Given the description of an element on the screen output the (x, y) to click on. 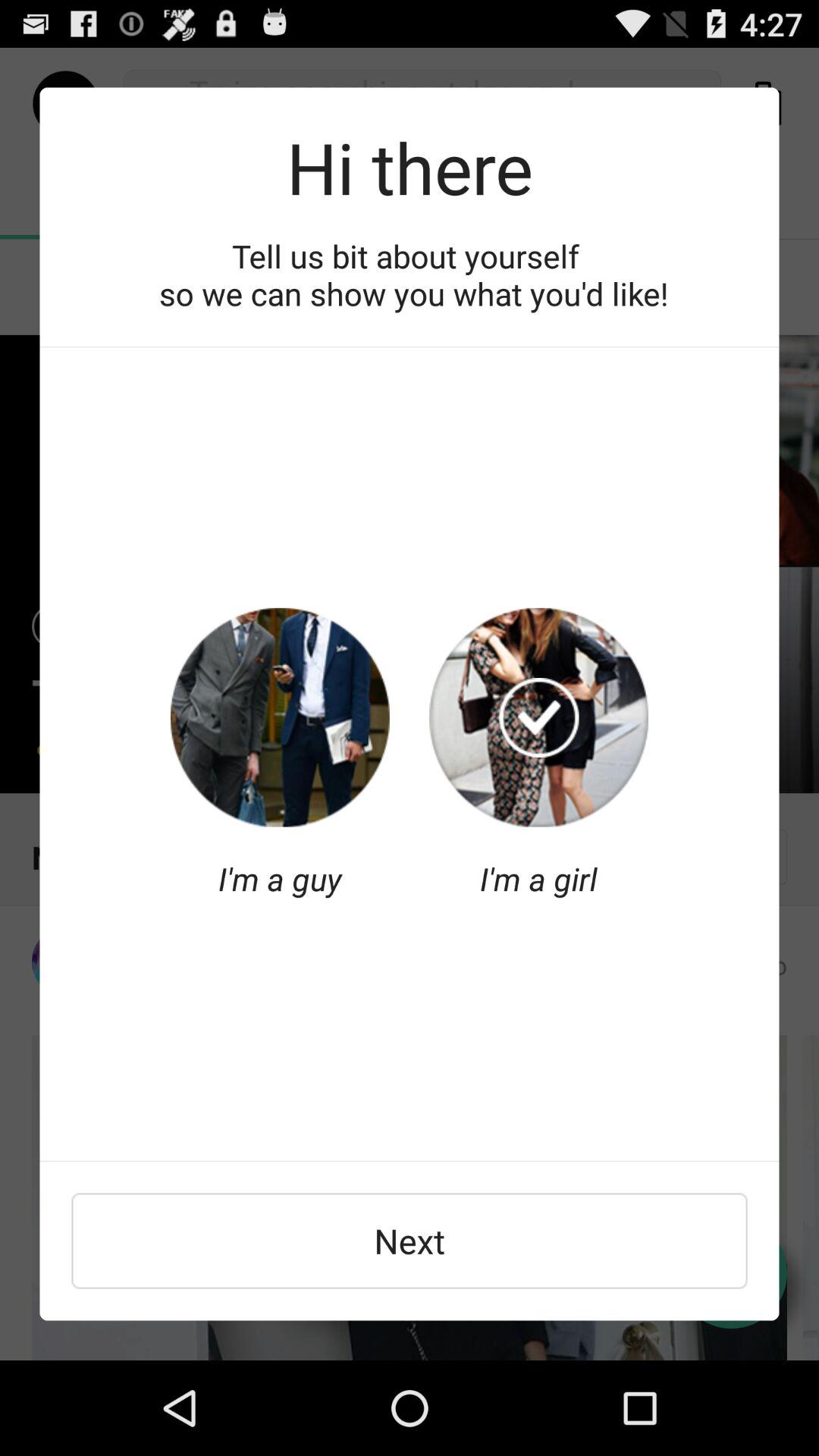
male selection option (279, 716)
